Given the description of an element on the screen output the (x, y) to click on. 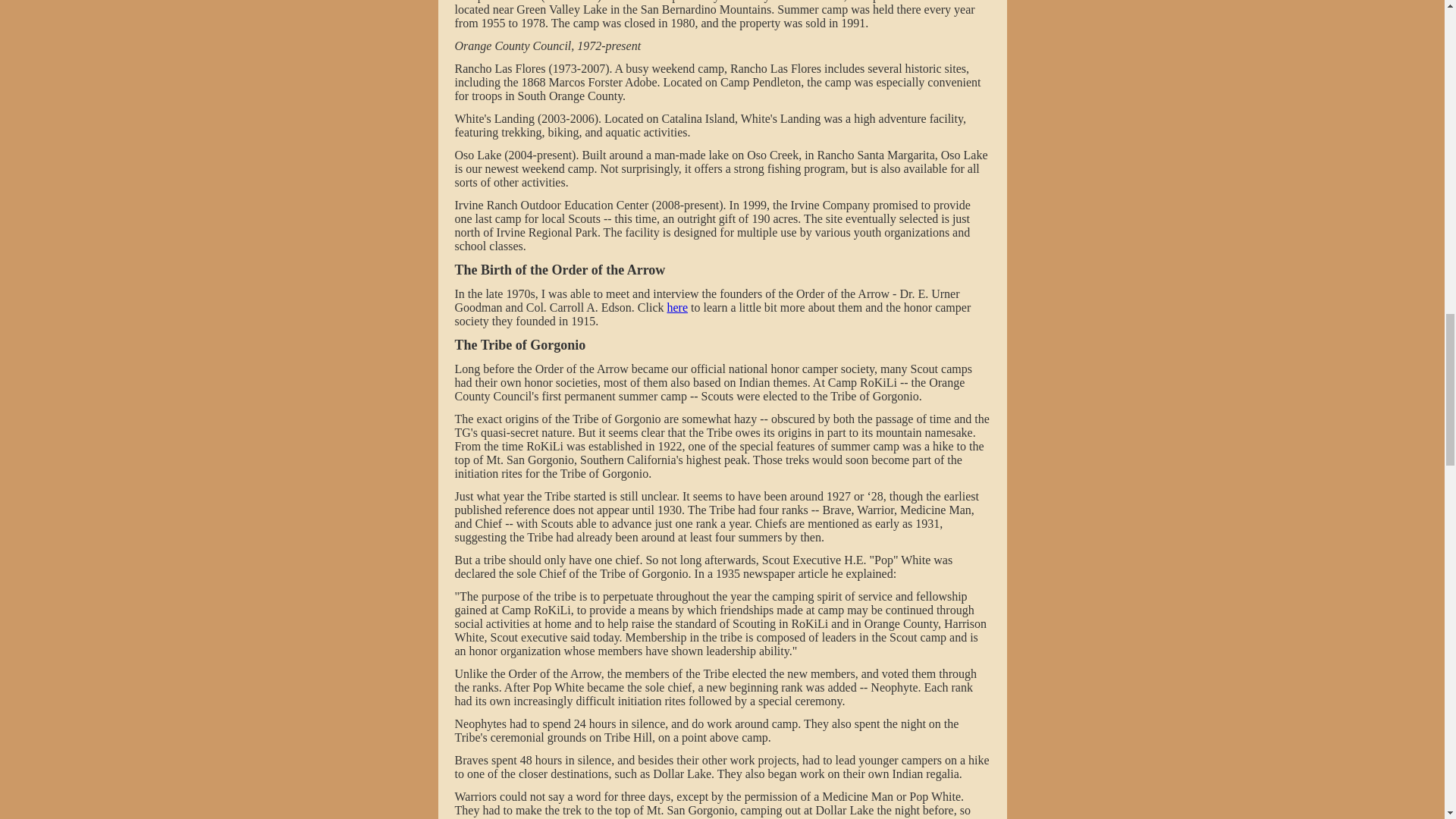
here (676, 308)
